Given the description of an element on the screen output the (x, y) to click on. 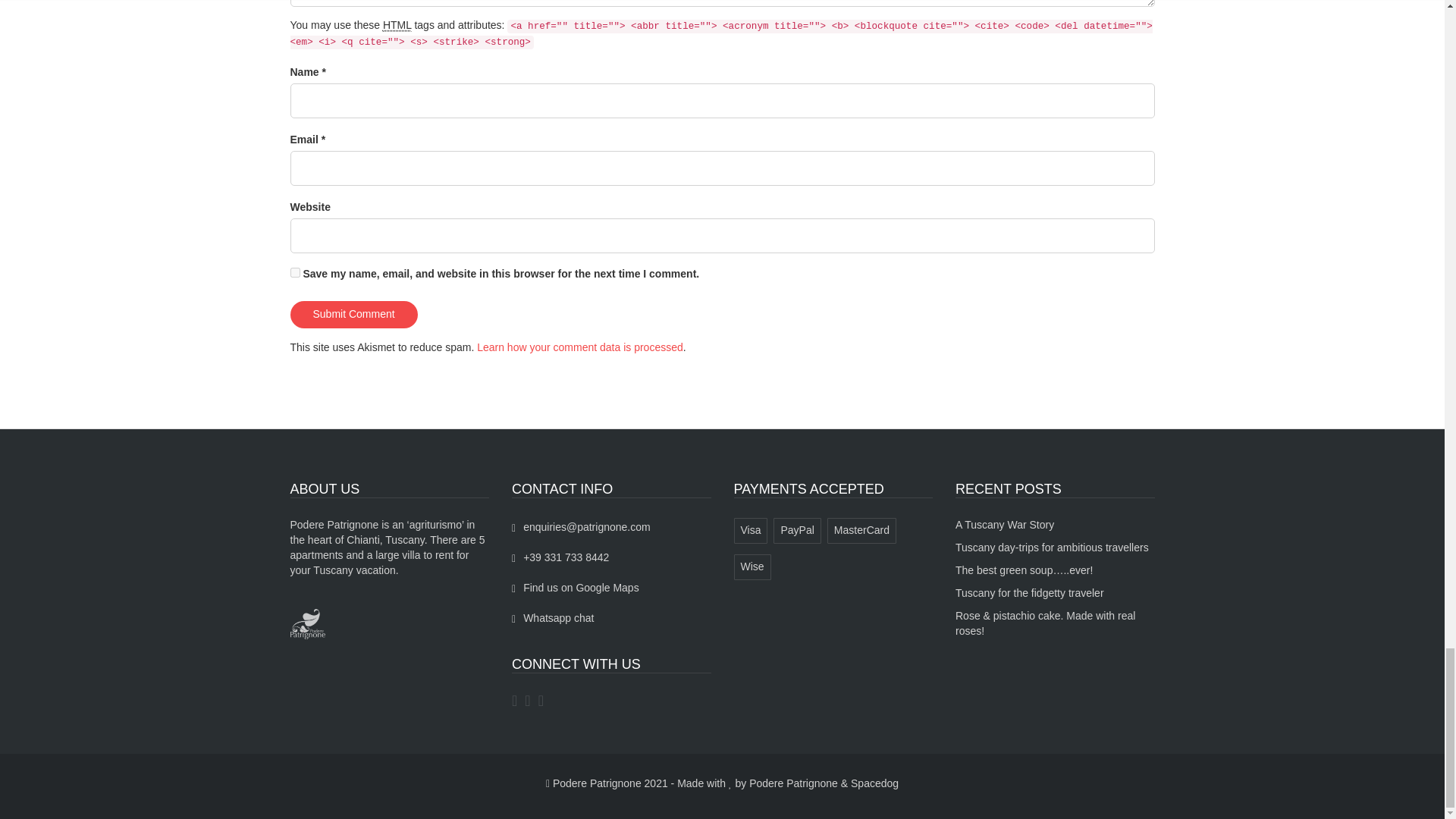
Submit Comment (352, 314)
HyperText Markup Language (397, 24)
yes (294, 272)
